Given the description of an element on the screen output the (x, y) to click on. 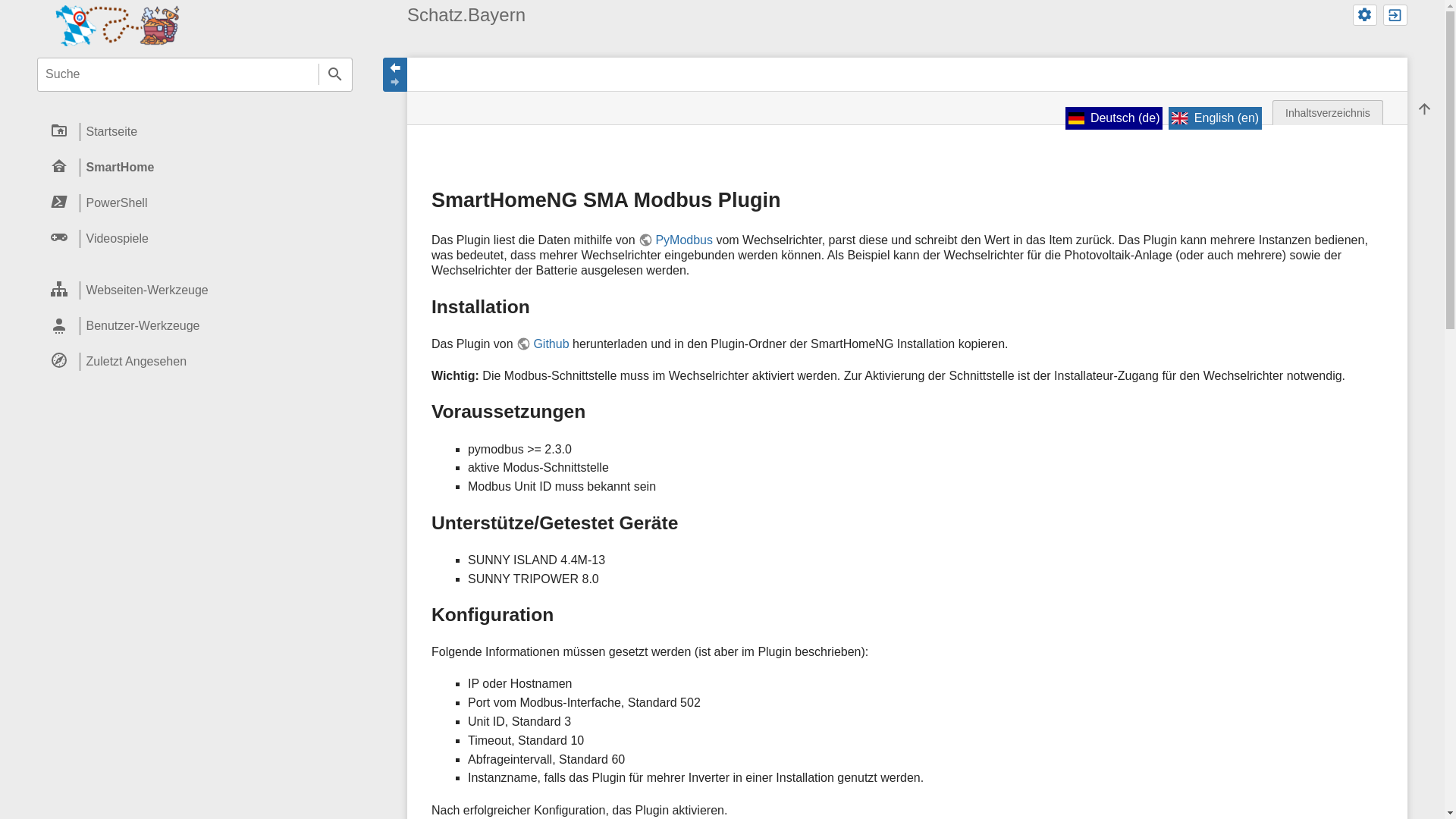
PowerShell Element type: text (194, 203)
[H] Element type: hover (119, 24)
[F] Element type: hover (194, 74)
Benutzer-Werkzeuge Element type: text (194, 325)
SmartHome Element type: text (194, 167)
Videospiele Element type: text (194, 238)
English (en) Element type: text (1214, 117)
Nach oben Element type: text (1424, 108)
Webseiten-Werkzeuge Element type: text (194, 289)
Anmelden Element type: hover (1395, 14)
Zuletzt Angesehen Element type: text (194, 361)
Suche Element type: text (335, 74)
PyModbus Element type: text (675, 239)
Startseite Element type: text (194, 132)
Admin Element type: hover (1364, 14)
Inhaltsverzeichnis Element type: text (1327, 112)
Github Element type: text (542, 343)
